Given the description of an element on the screen output the (x, y) to click on. 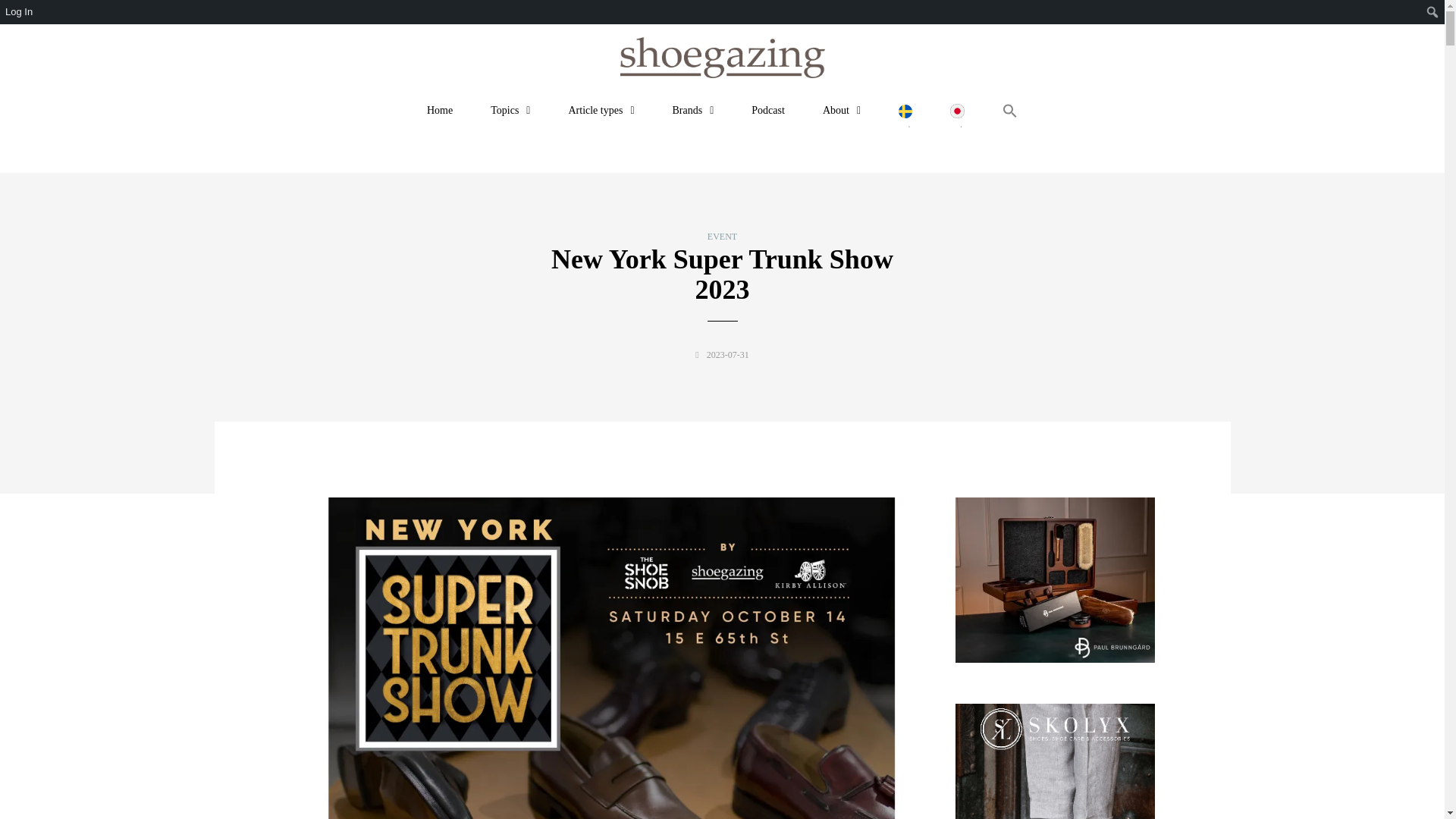
. (957, 117)
. (905, 117)
Topics (510, 110)
Brands (692, 110)
Article types (600, 110)
Podcast (768, 110)
Log In (19, 12)
Home (440, 110)
Search (16, 12)
About (841, 110)
